Given the description of an element on the screen output the (x, y) to click on. 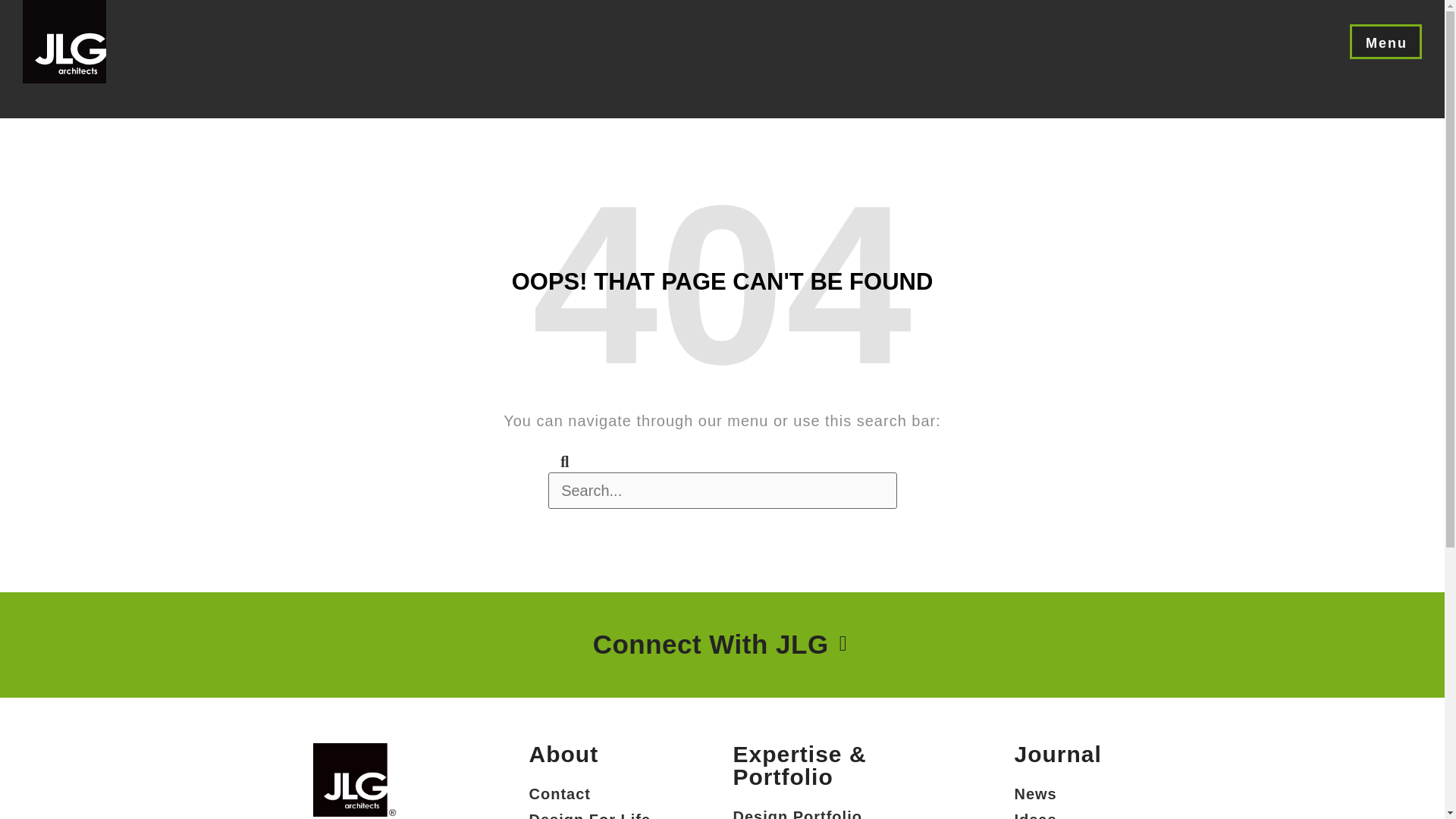
Connect With JLG (714, 644)
News (1072, 793)
Contact (605, 793)
Journal (1056, 754)
Design Portfolio (831, 811)
Design For Life (605, 812)
About (563, 754)
